Given the description of an element on the screen output the (x, y) to click on. 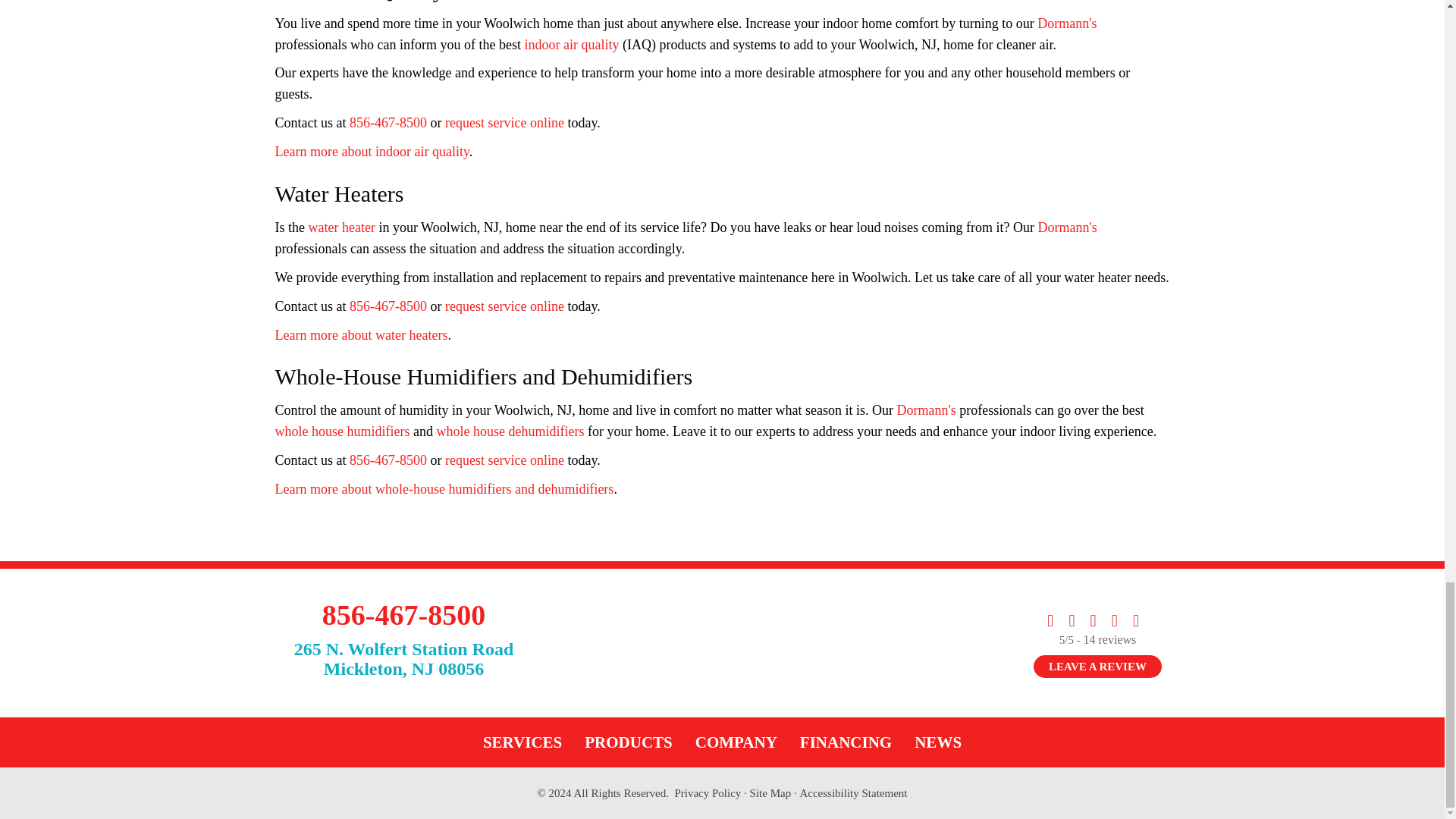
MDH-Logo (721, 642)
